Given the description of an element on the screen output the (x, y) to click on. 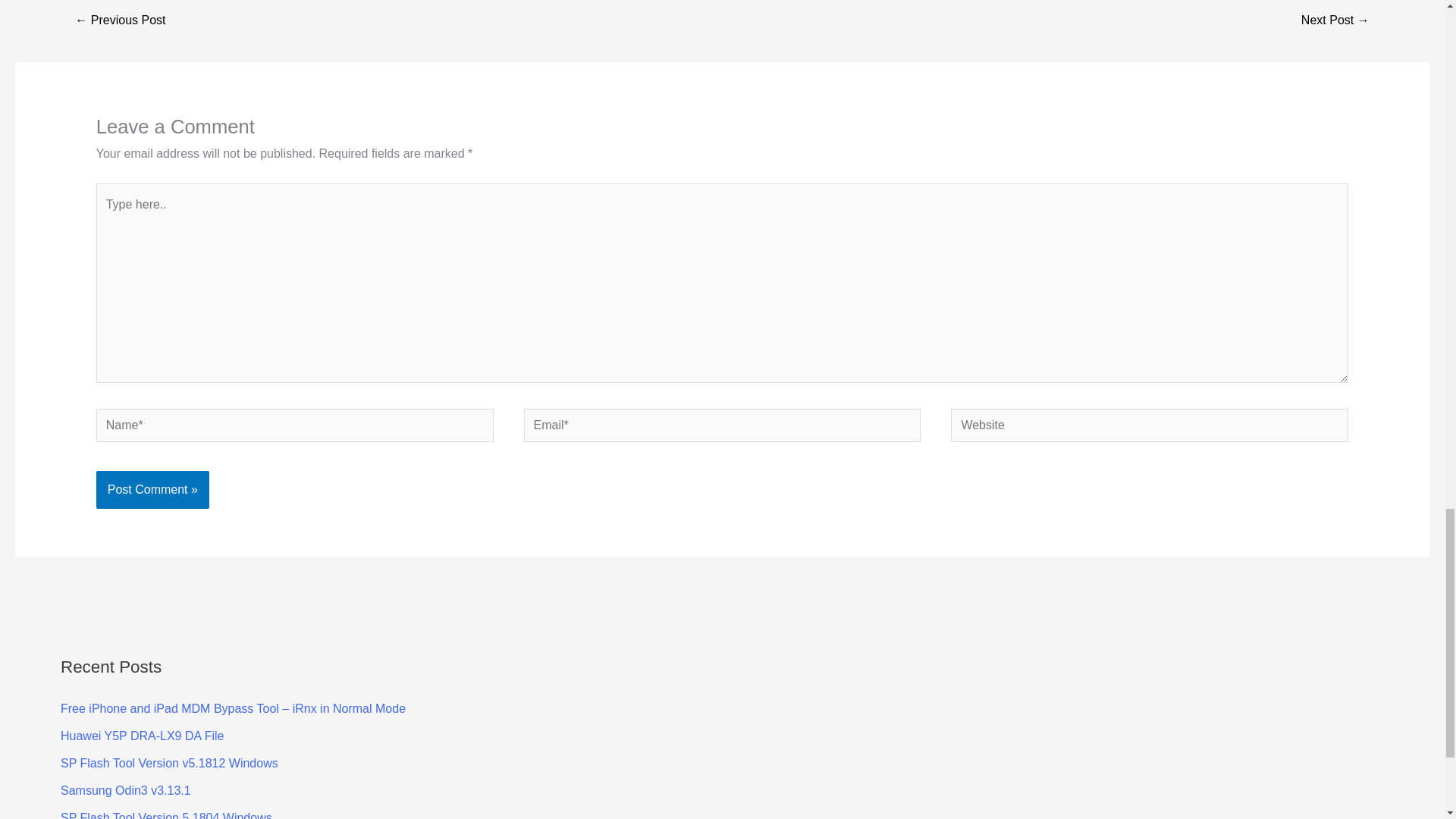
Huawei Y5P DRA-LX9 DA File (142, 735)
